Given the description of an element on the screen output the (x, y) to click on. 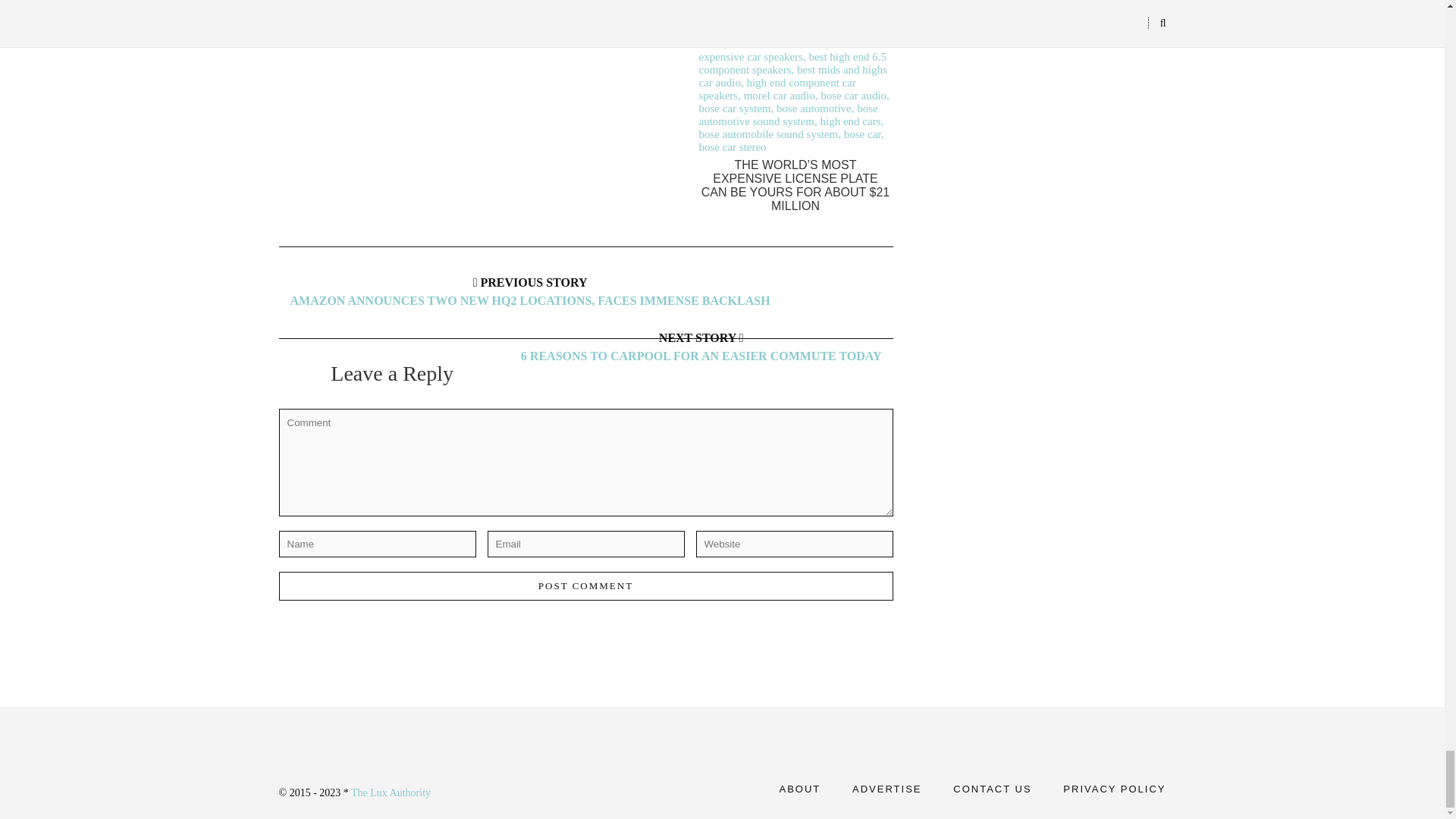
Post Comment (586, 585)
